Given the description of an element on the screen output the (x, y) to click on. 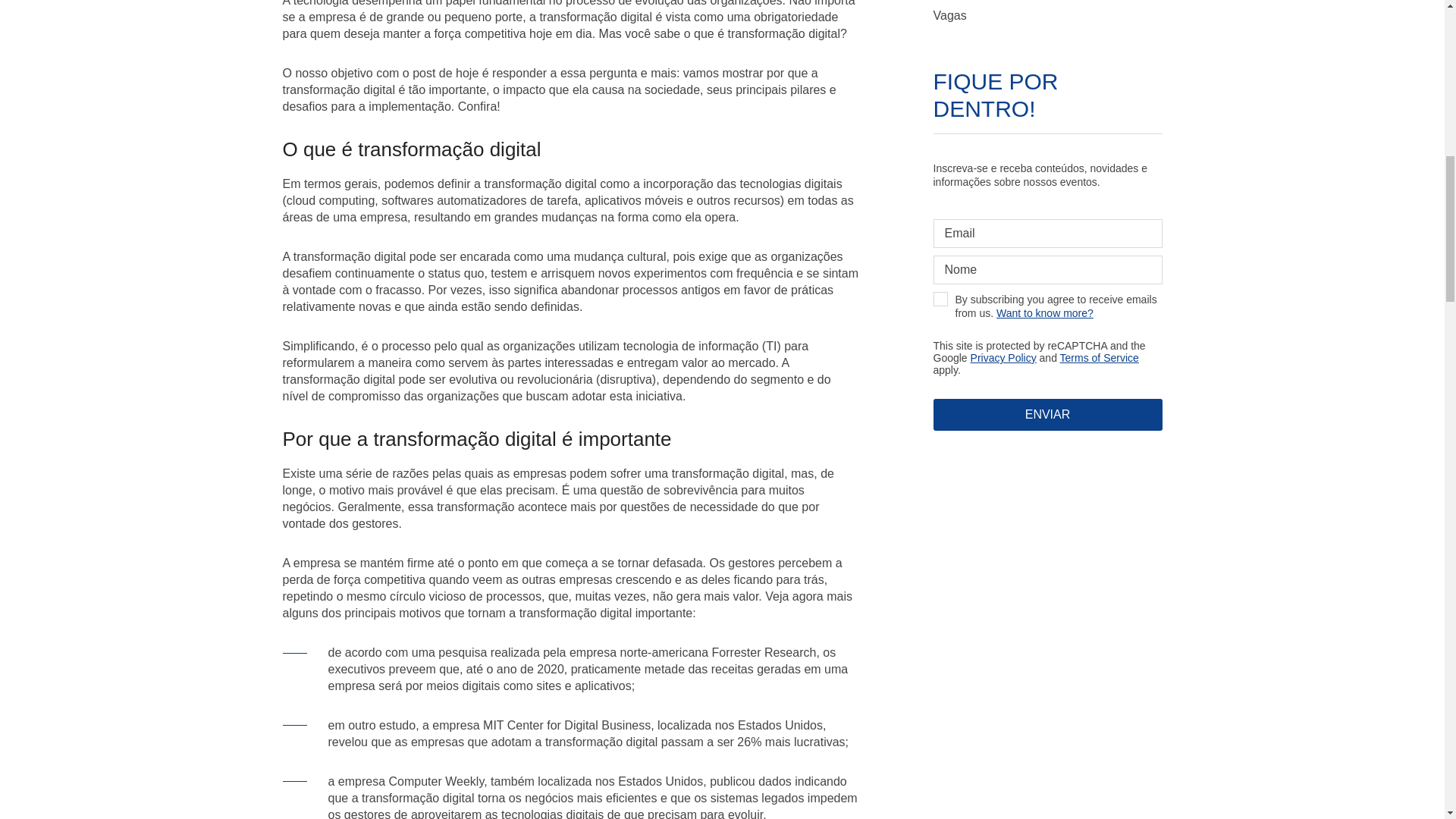
Enviar (1047, 414)
